Given the description of an element on the screen output the (x, y) to click on. 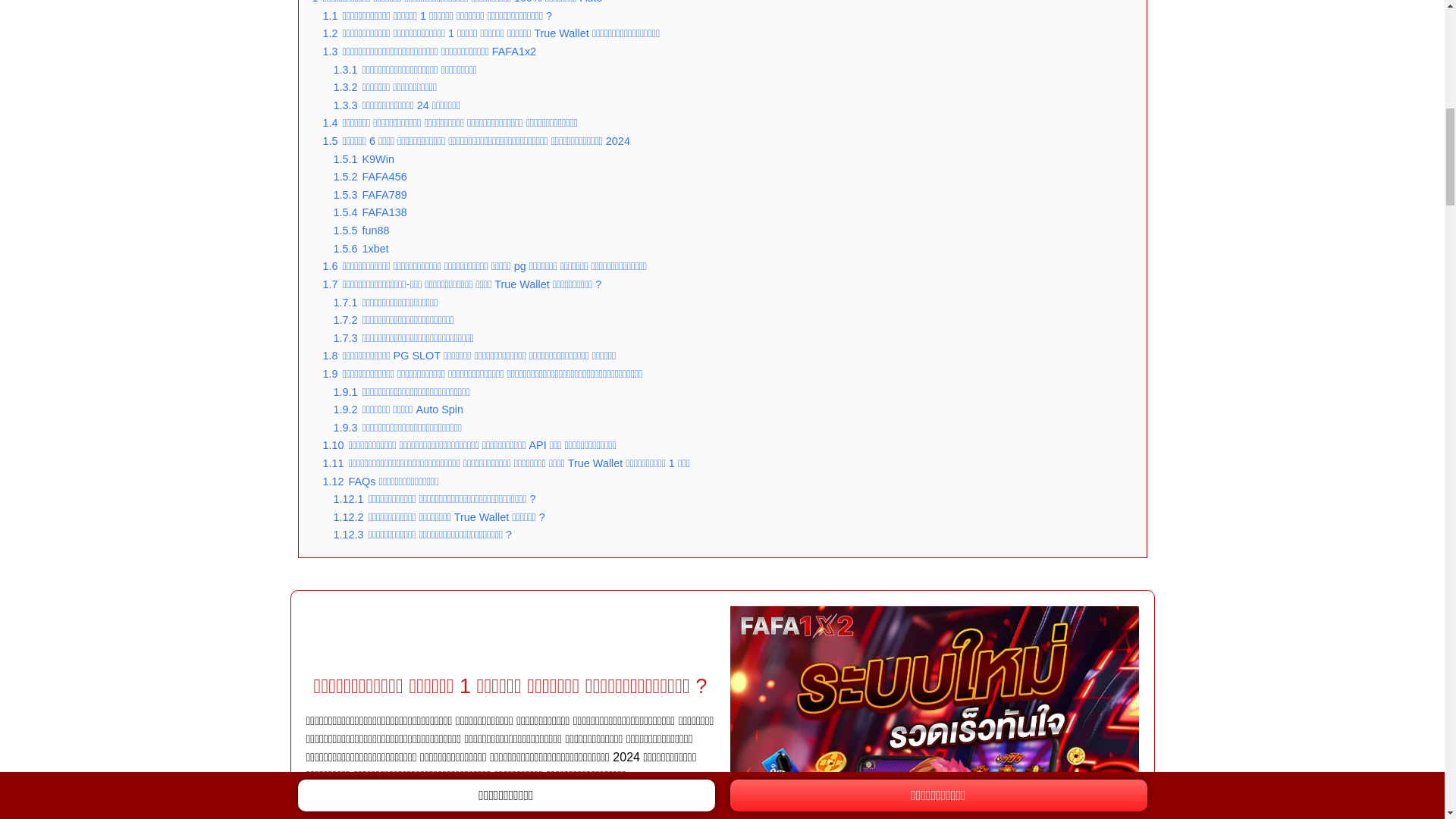
1.5.1 K9Win (363, 159)
1.5.4 FAFA138 (370, 212)
1.5.5 fun88 (361, 230)
1.5.3 FAFA789 (370, 194)
1.5.2 FAFA456 (370, 176)
1.5.6 1xbet (360, 248)
